Given the description of an element on the screen output the (x, y) to click on. 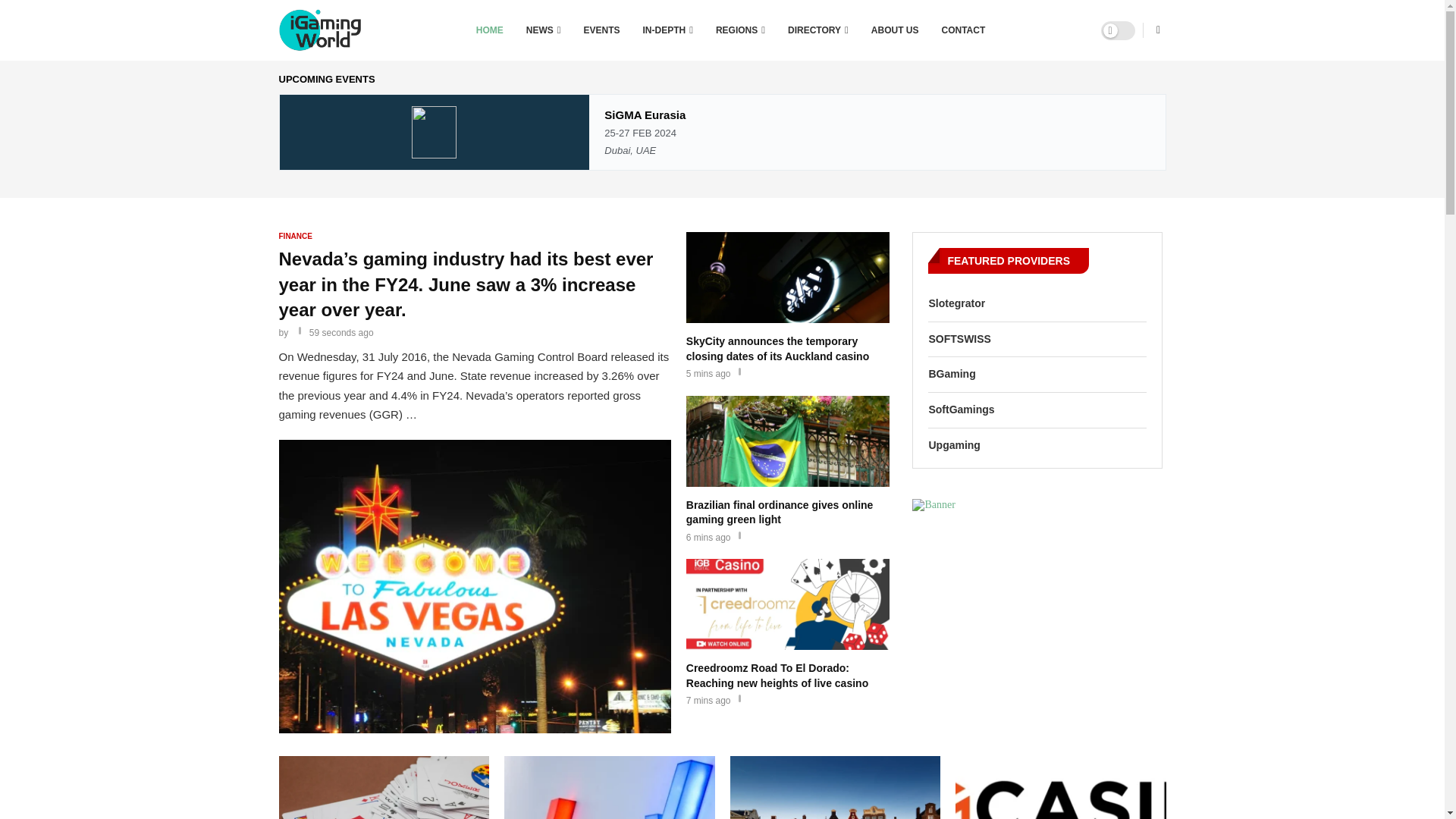
Brazilian final ordinance gives online gaming green light (787, 469)
Brazilian final ordinance gives online gaming green light (787, 515)
Brazilian final ordinance gives online gaming green light (787, 440)
Slotegrator (1037, 304)
